Given the description of an element on the screen output the (x, y) to click on. 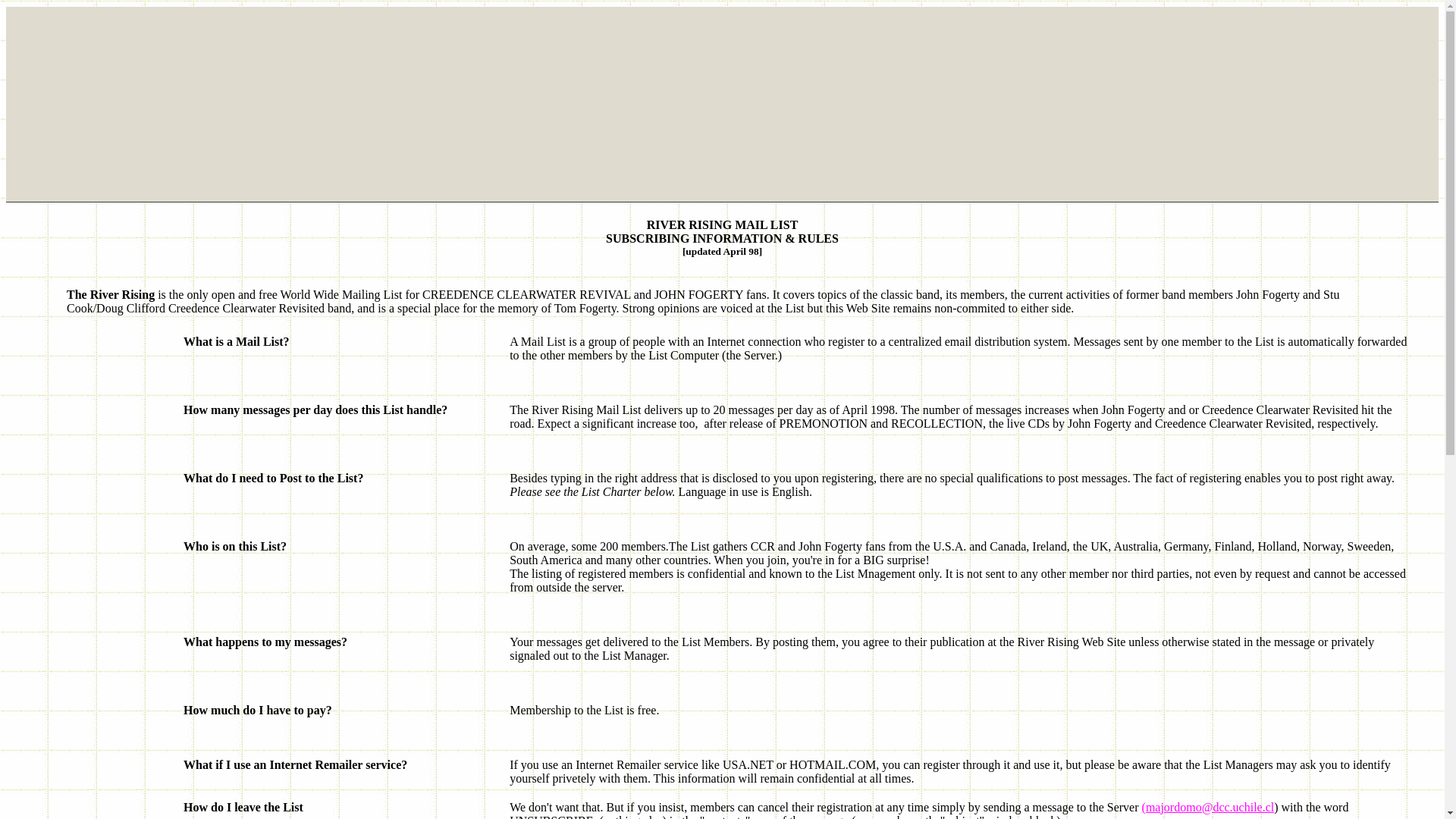
RIVER (665, 224)
